Given the description of an element on the screen output the (x, y) to click on. 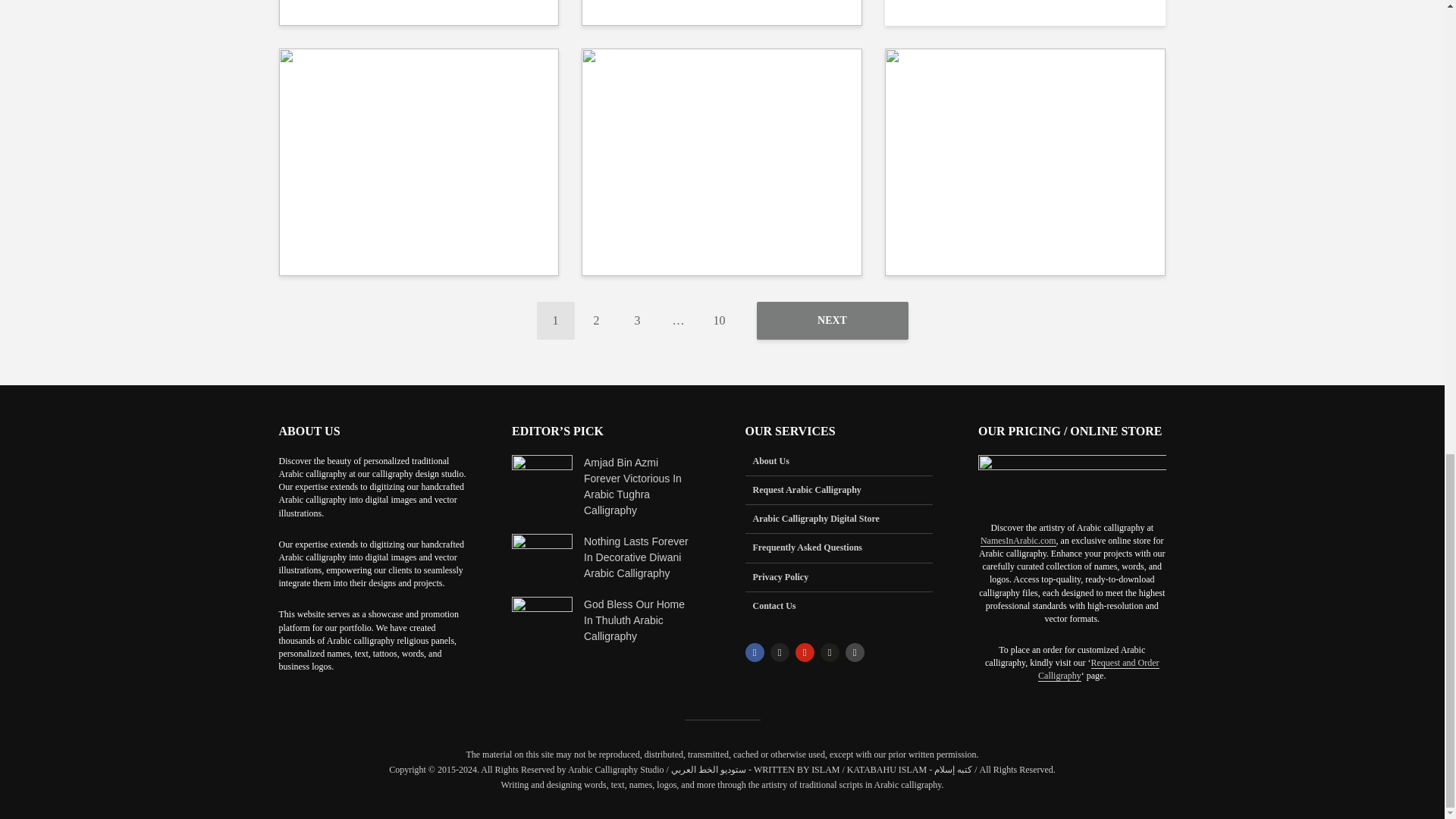
God Bless Our Home In Thuluth Arabic Calligraphy (542, 618)
Baraa Khdeir Name In Arabic Diwani Calligraphy (419, 160)
Facebook (753, 651)
